Given the description of an element on the screen output the (x, y) to click on. 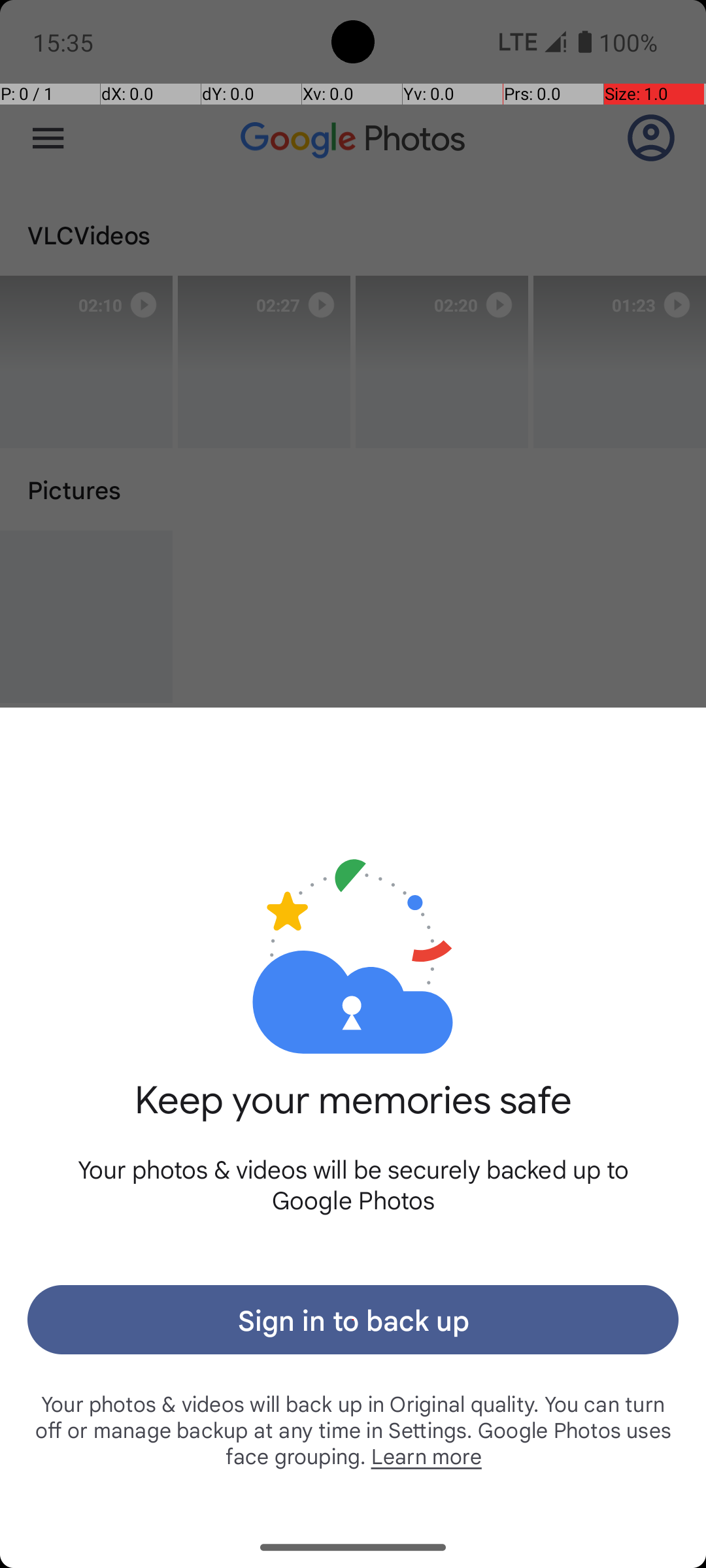
Photos and videos stored in a cloud Element type: android.widget.ImageView (352, 913)
Keep your memories safe Element type: android.widget.TextView (352, 1113)
Your photos & videos will be securely backed up to Google Photos Element type: android.widget.TextView (352, 1183)
Sign in to back up Element type: android.widget.Button (352, 1319)
Your photos & videos will back up in Original quality. You can turn off or manage backup at any time in Settings. Google Photos uses face grouping. Learn more Element type: android.widget.TextView (352, 1429)
